Given the description of an element on the screen output the (x, y) to click on. 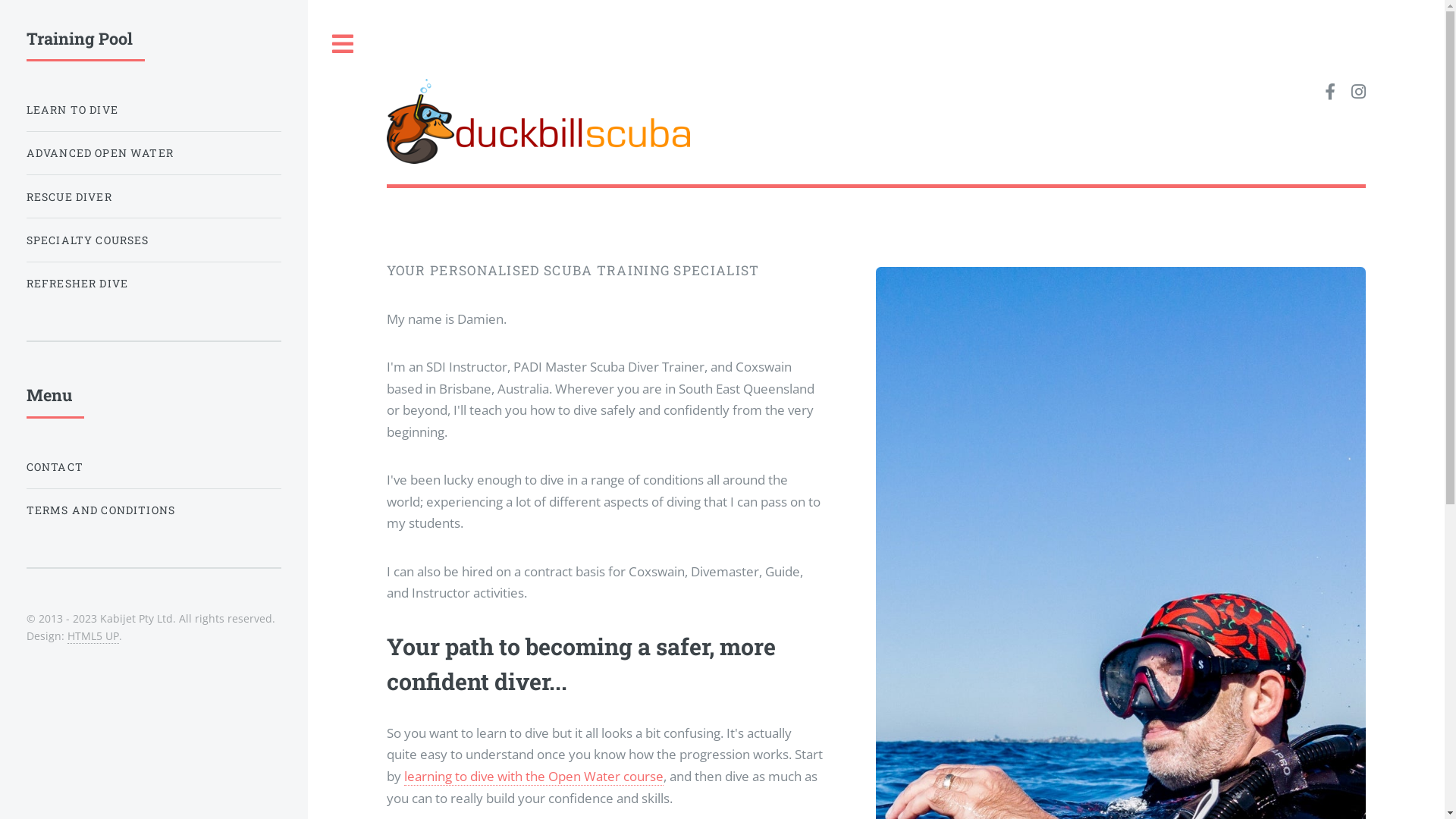
ADVANCED OPEN WATER Element type: text (153, 153)
learning to dive with the Open Water course Element type: text (533, 775)
TERMS AND CONDITIONS Element type: text (153, 509)
CONTACT Element type: text (153, 466)
Toggle Element type: text (343, 44)
LEARN TO DIVE Element type: text (153, 109)
REFRESHER DIVE Element type: text (153, 283)
SPECIALTY COURSES Element type: text (153, 239)
HTML5 UP Element type: text (93, 635)
RESCUE DIVER Element type: text (153, 196)
